Given the description of an element on the screen output the (x, y) to click on. 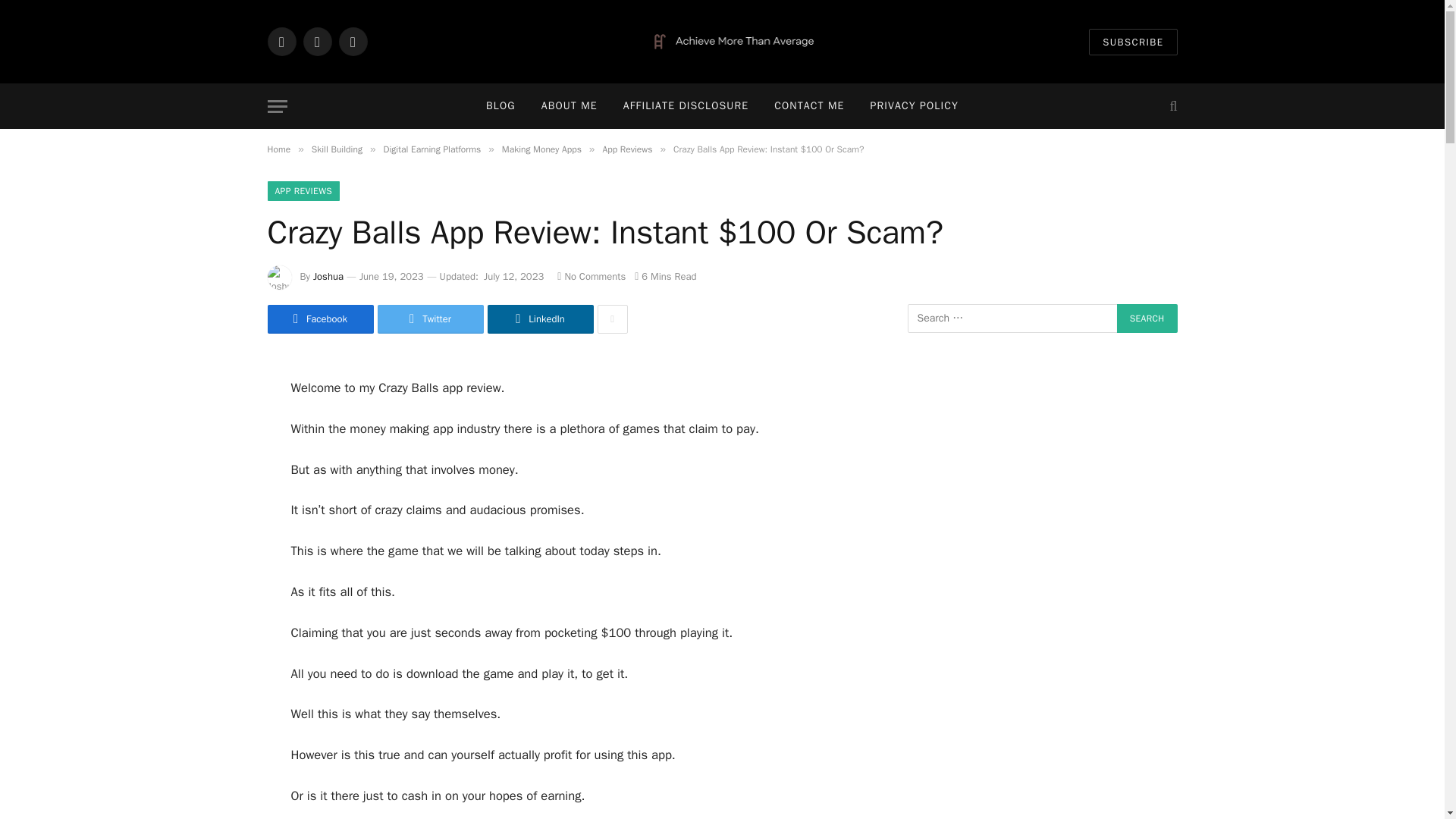
Instagram (351, 41)
Digital Earning Platforms (432, 149)
APP REVIEWS (302, 190)
Share on LinkedIn (539, 318)
Making Money Apps (541, 149)
Home (277, 149)
Facebook (319, 318)
Facebook (280, 41)
Search (1146, 317)
LinkedIn (539, 318)
SUBSCRIBE (1132, 41)
Skill Building (336, 149)
Twitter (430, 318)
PRIVACY POLICY (914, 105)
Posts by Joshua (328, 276)
